Given the description of an element on the screen output the (x, y) to click on. 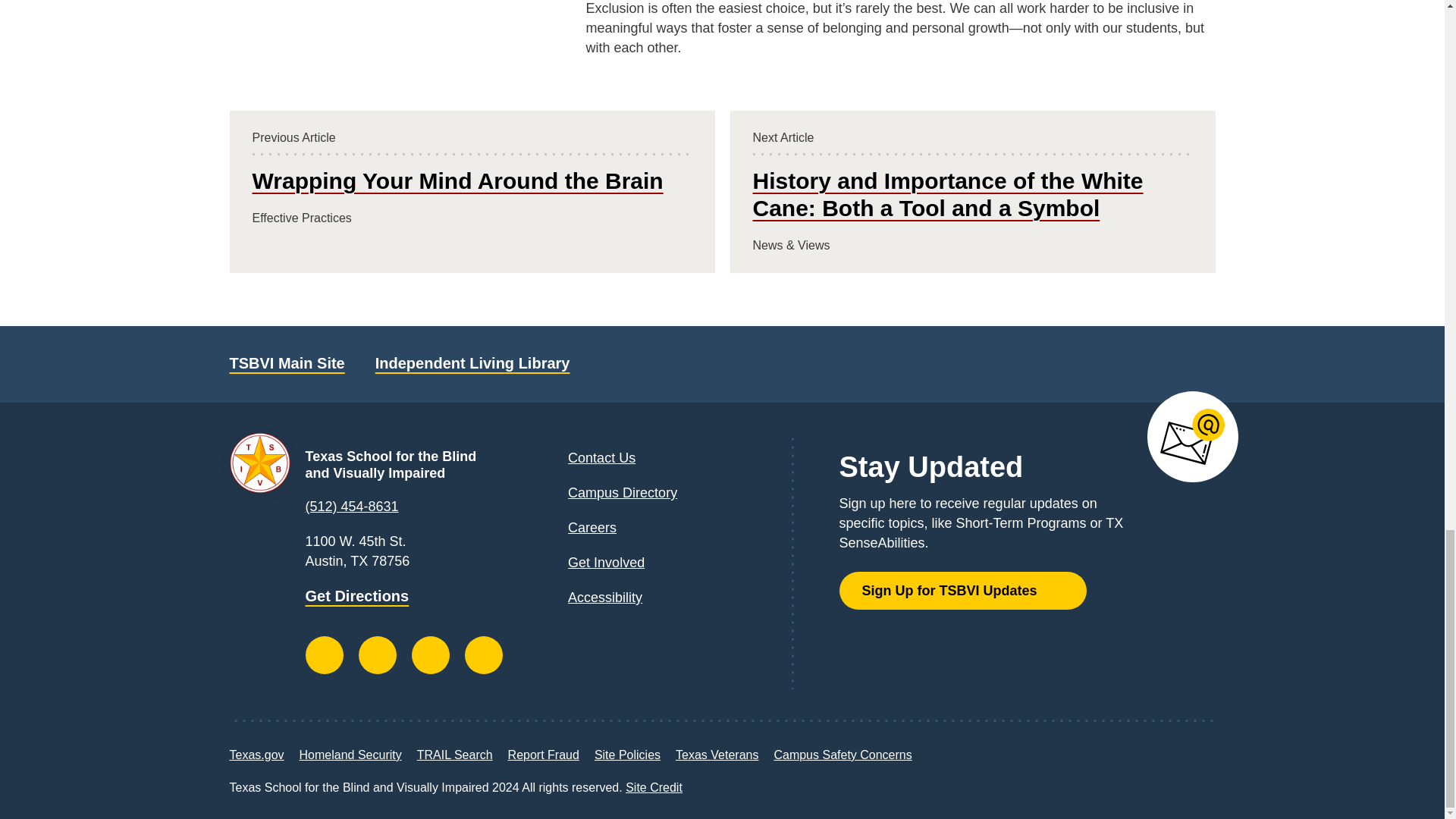
Go to homepage (395, 464)
